Given the description of an element on the screen output the (x, y) to click on. 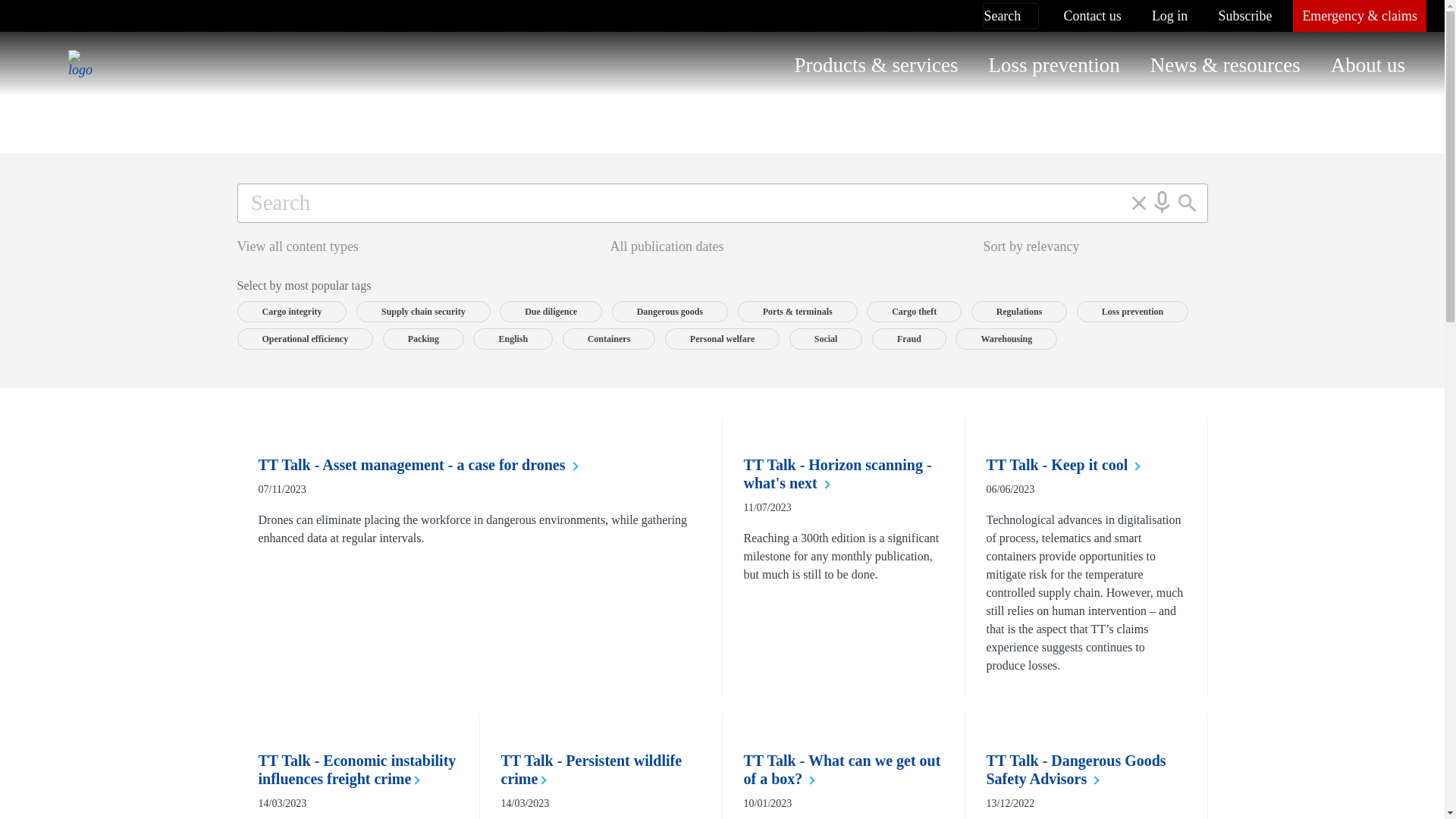
Subscribe (1244, 15)
Contact us (1092, 15)
Loss prevention (1054, 65)
Log in (1169, 15)
